Given the description of an element on the screen output the (x, y) to click on. 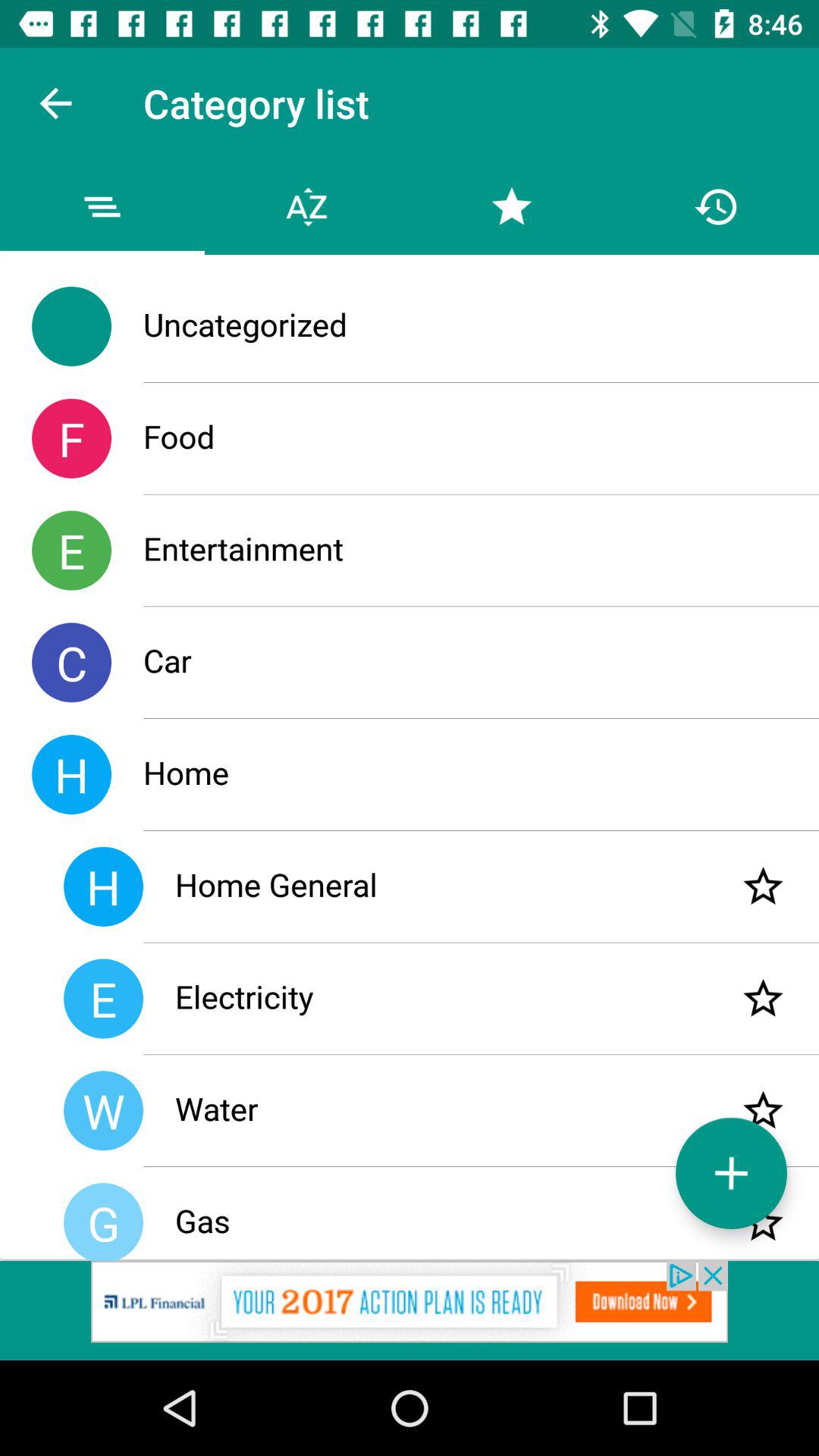
mark as favorite (763, 1222)
